Given the description of an element on the screen output the (x, y) to click on. 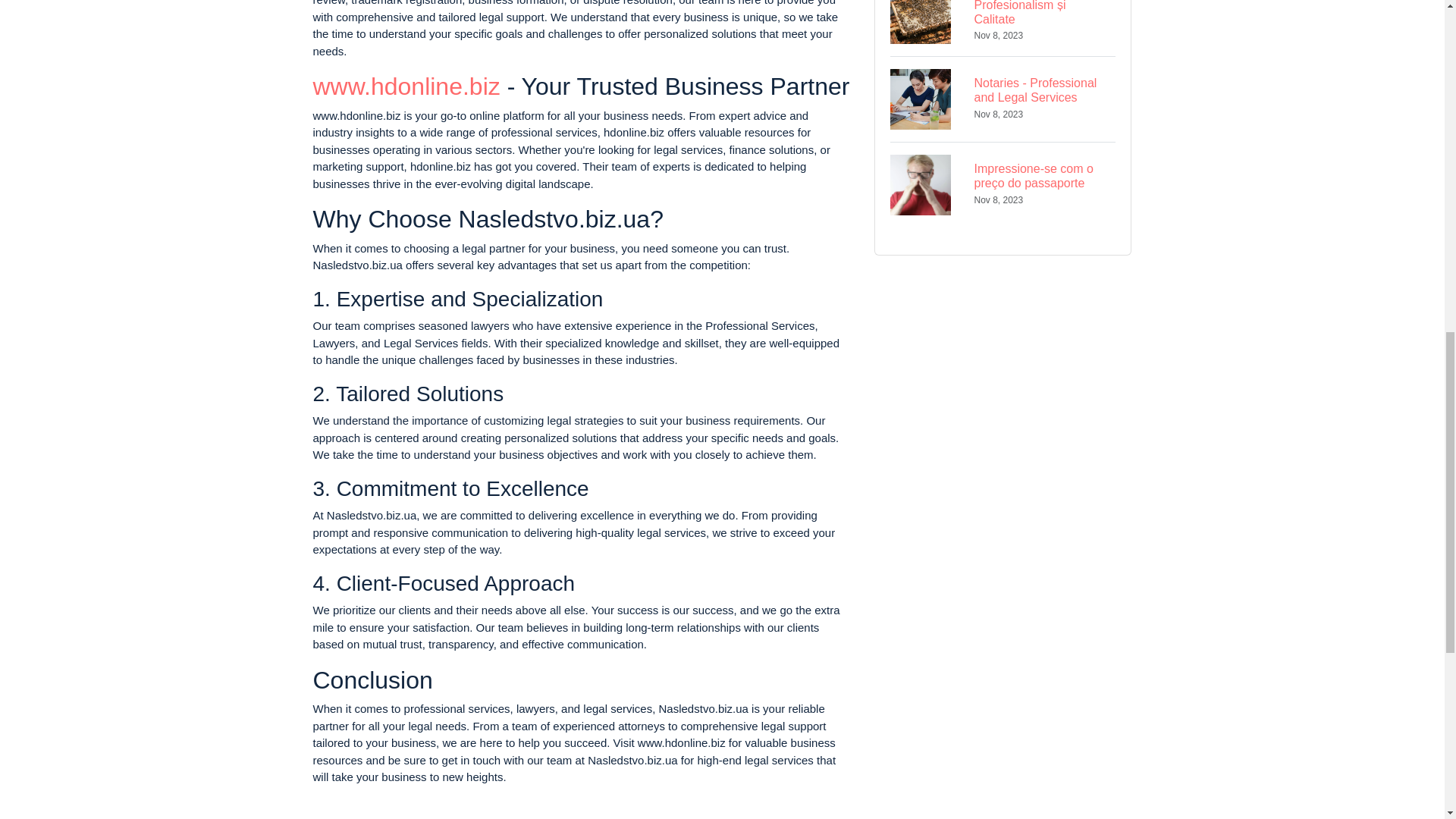
www.hdonline.biz (406, 85)
